Given the description of an element on the screen output the (x, y) to click on. 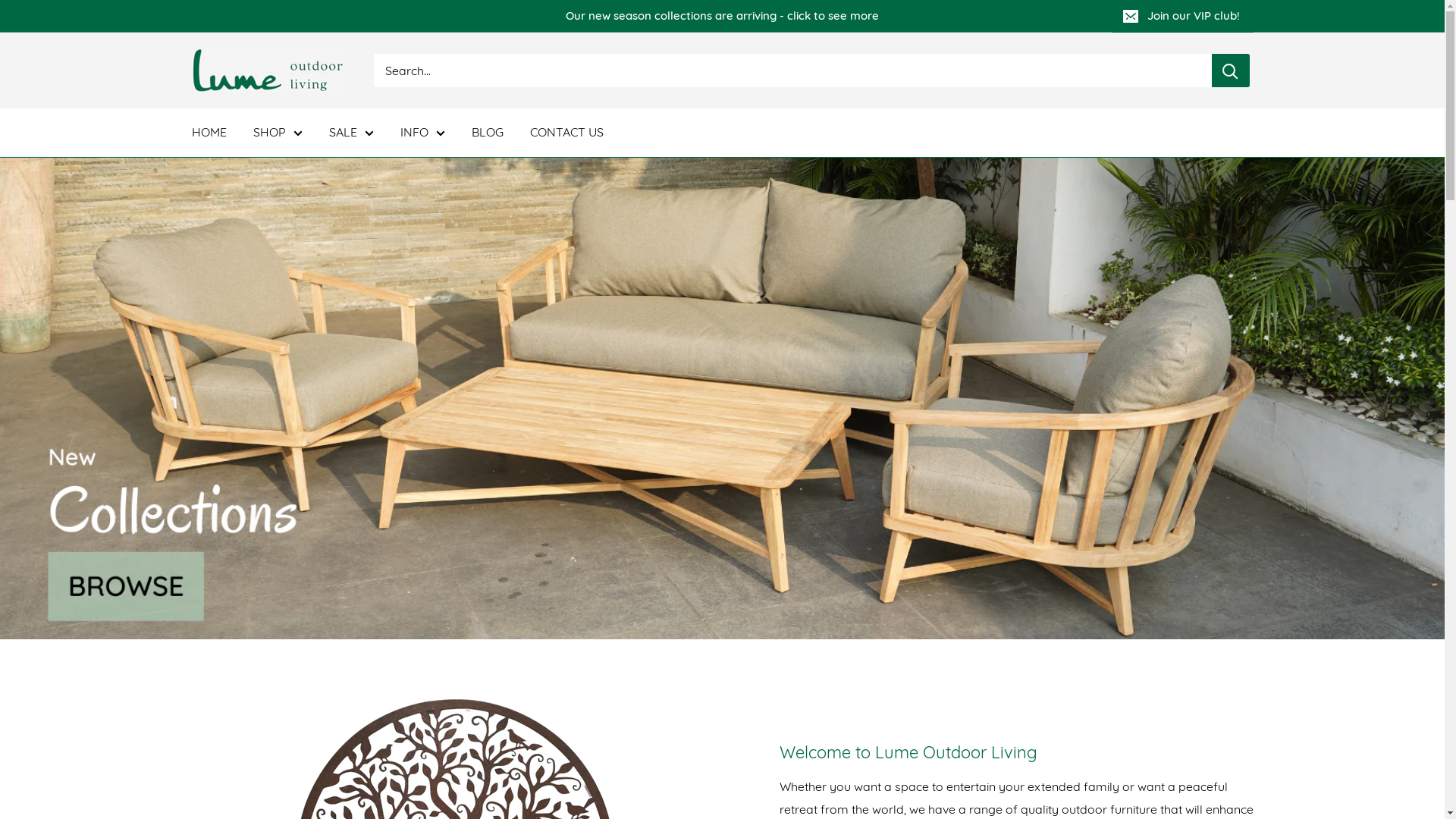
Our new season collections are arriving - click to see more Element type: text (650, 15)
SHOP Element type: text (277, 132)
BLOG Element type: text (487, 132)
Join our VIP club! Element type: text (1182, 15)
CONTACT US Element type: text (565, 132)
INFO Element type: text (422, 132)
HOME Element type: text (208, 132)
SALE Element type: text (351, 132)
